Given the description of an element on the screen output the (x, y) to click on. 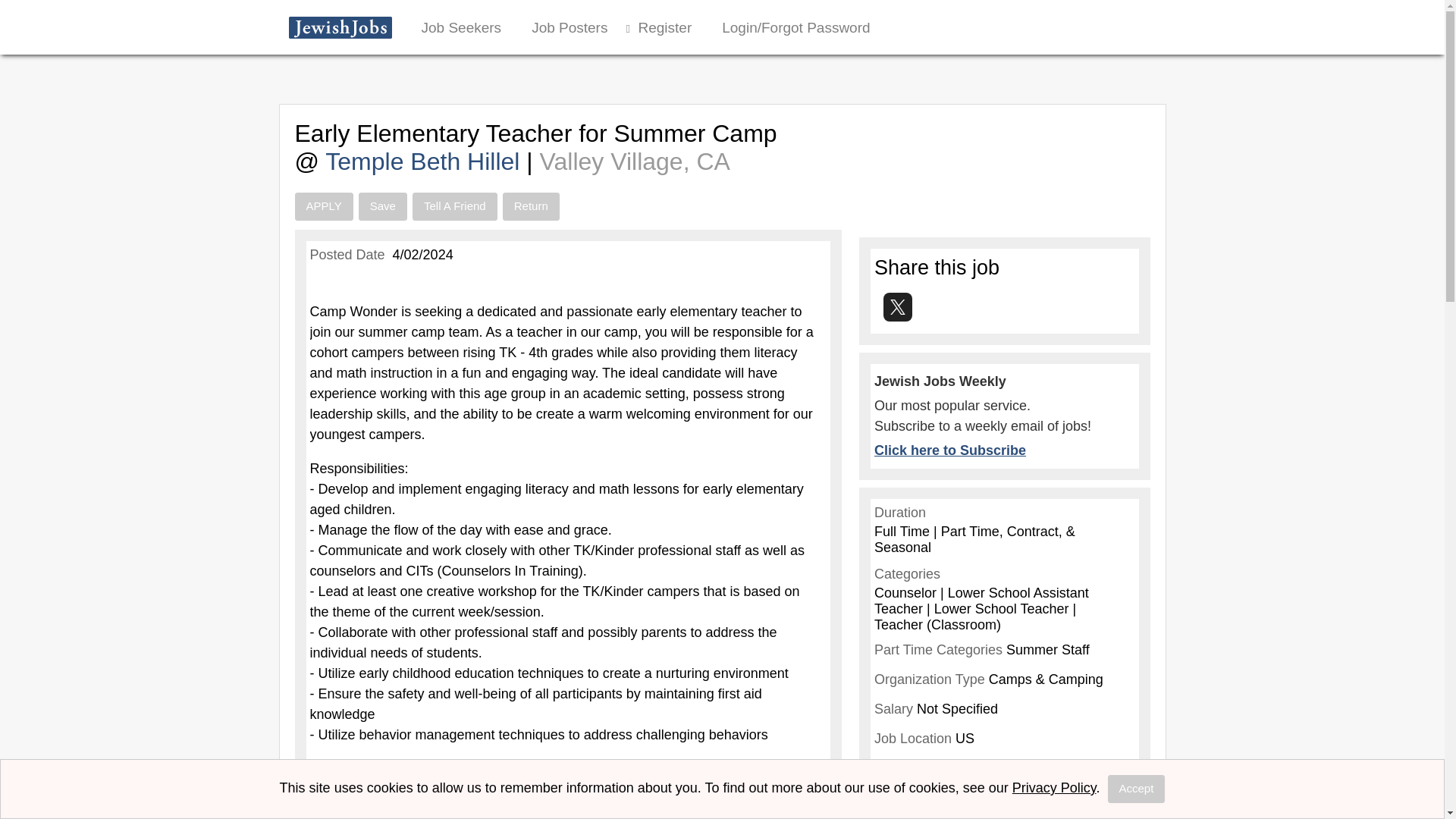
Register (664, 27)
Tell A Friend (454, 206)
Save (382, 206)
Apply (323, 206)
Tell A Friend (454, 206)
Share on Facebook (879, 309)
Save (382, 206)
Return (530, 206)
Share on LinkedIn (925, 309)
Return (530, 206)
Click here to Subscribe (950, 450)
Apply (323, 206)
Temple Beth Hillel (424, 161)
